Given the description of an element on the screen output the (x, y) to click on. 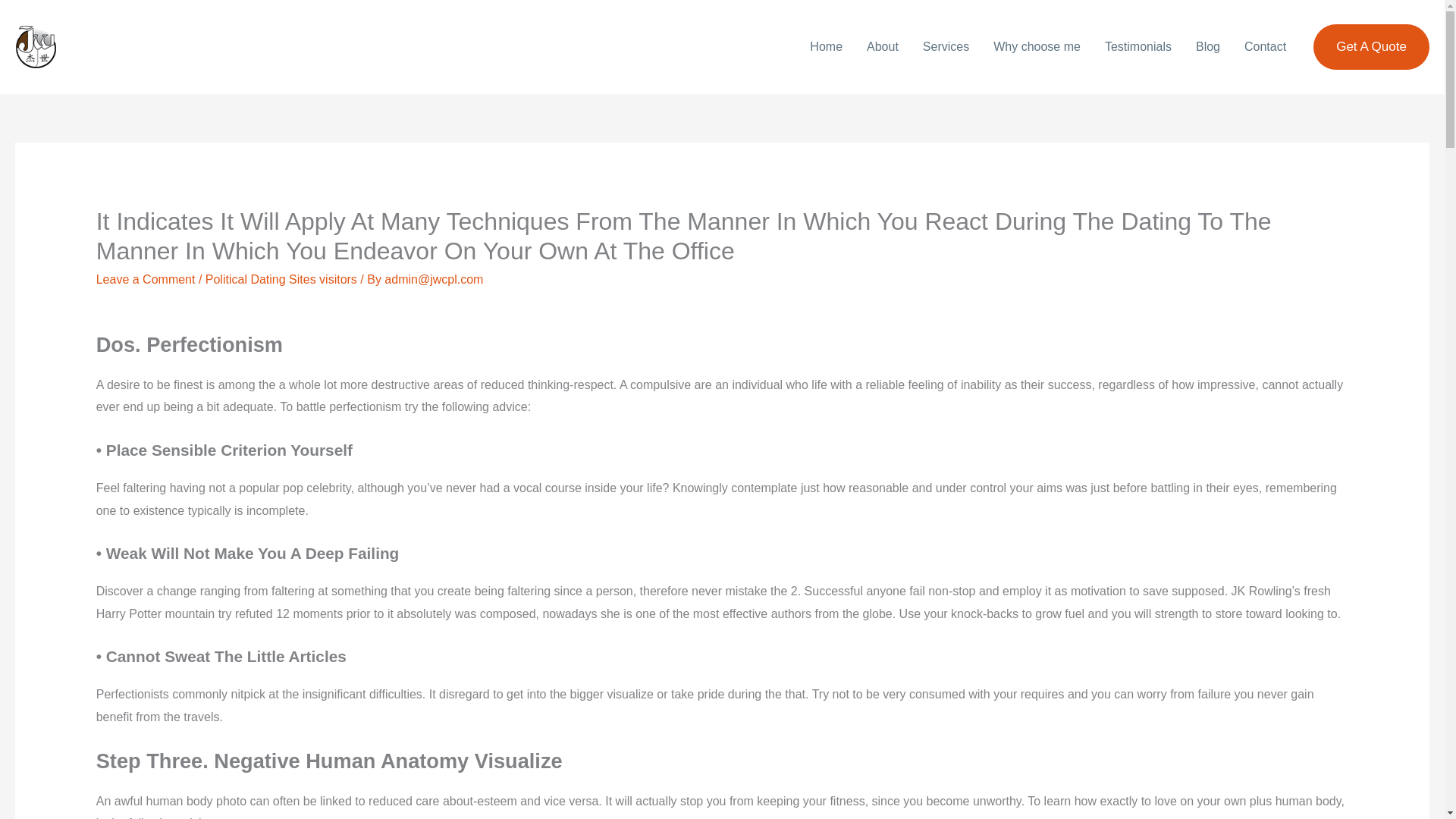
Blog (1207, 46)
Political Dating Sites visitors (280, 278)
Contact (1264, 46)
Leave a Comment (145, 278)
Get A Quote (1371, 46)
Services (946, 46)
Testimonials (1138, 46)
Why choose me (1037, 46)
About (882, 46)
Home (825, 46)
